Given the description of an element on the screen output the (x, y) to click on. 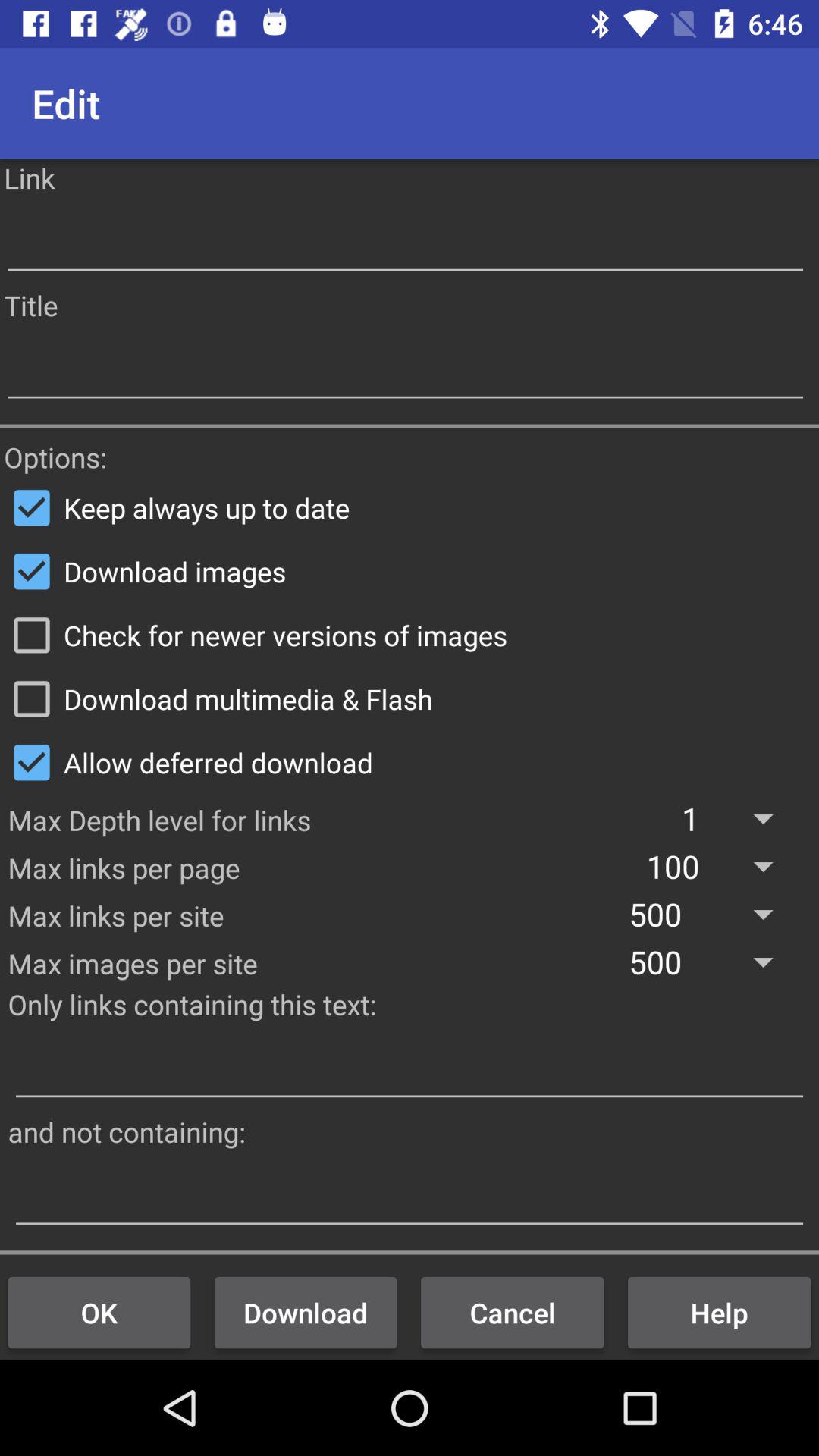
links with specific text (409, 1068)
